Given the description of an element on the screen output the (x, y) to click on. 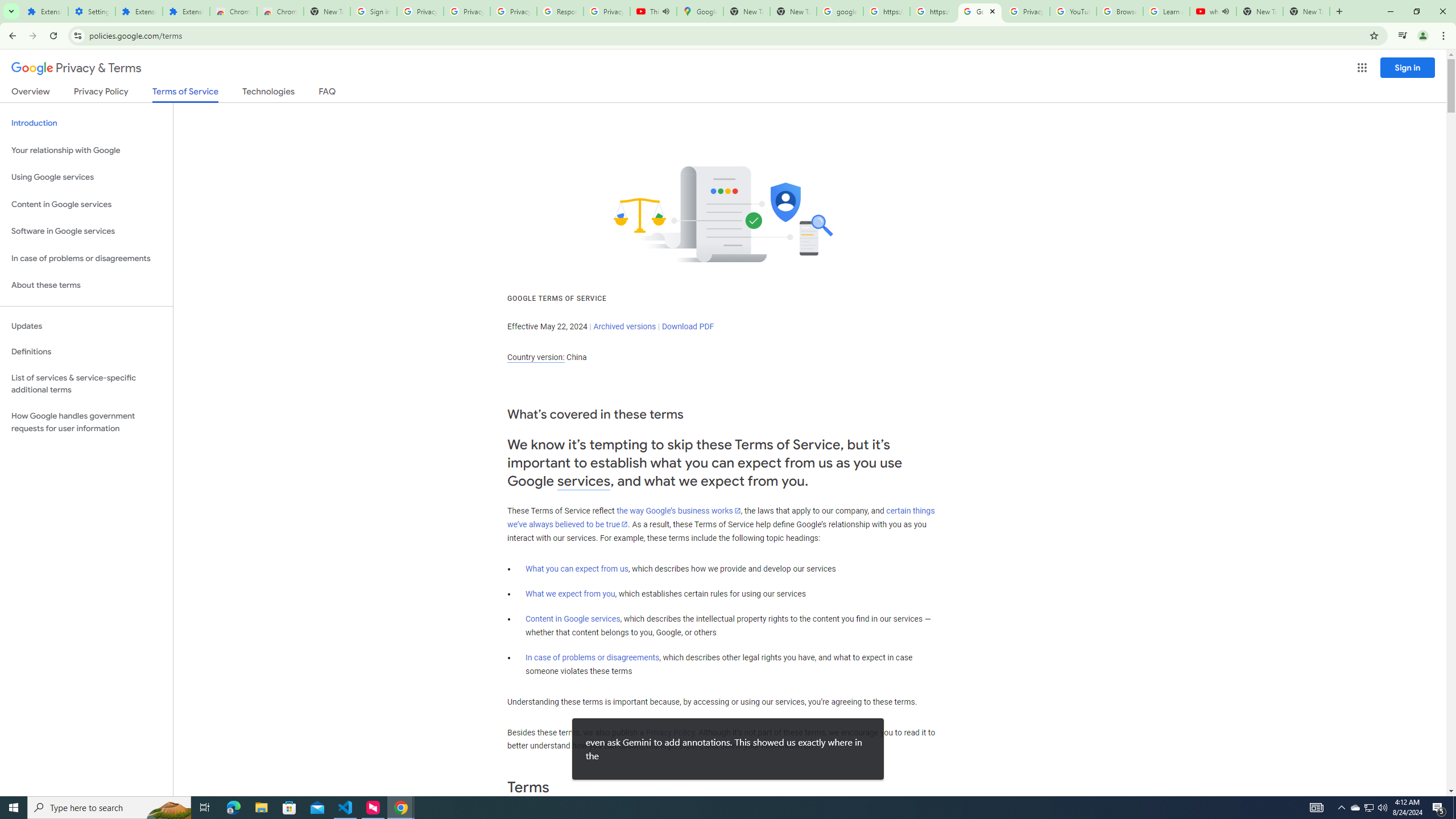
Chrome Web Store - Themes (279, 11)
Your relationship with Google (86, 150)
What you can expect from us (576, 568)
